Given the description of an element on the screen output the (x, y) to click on. 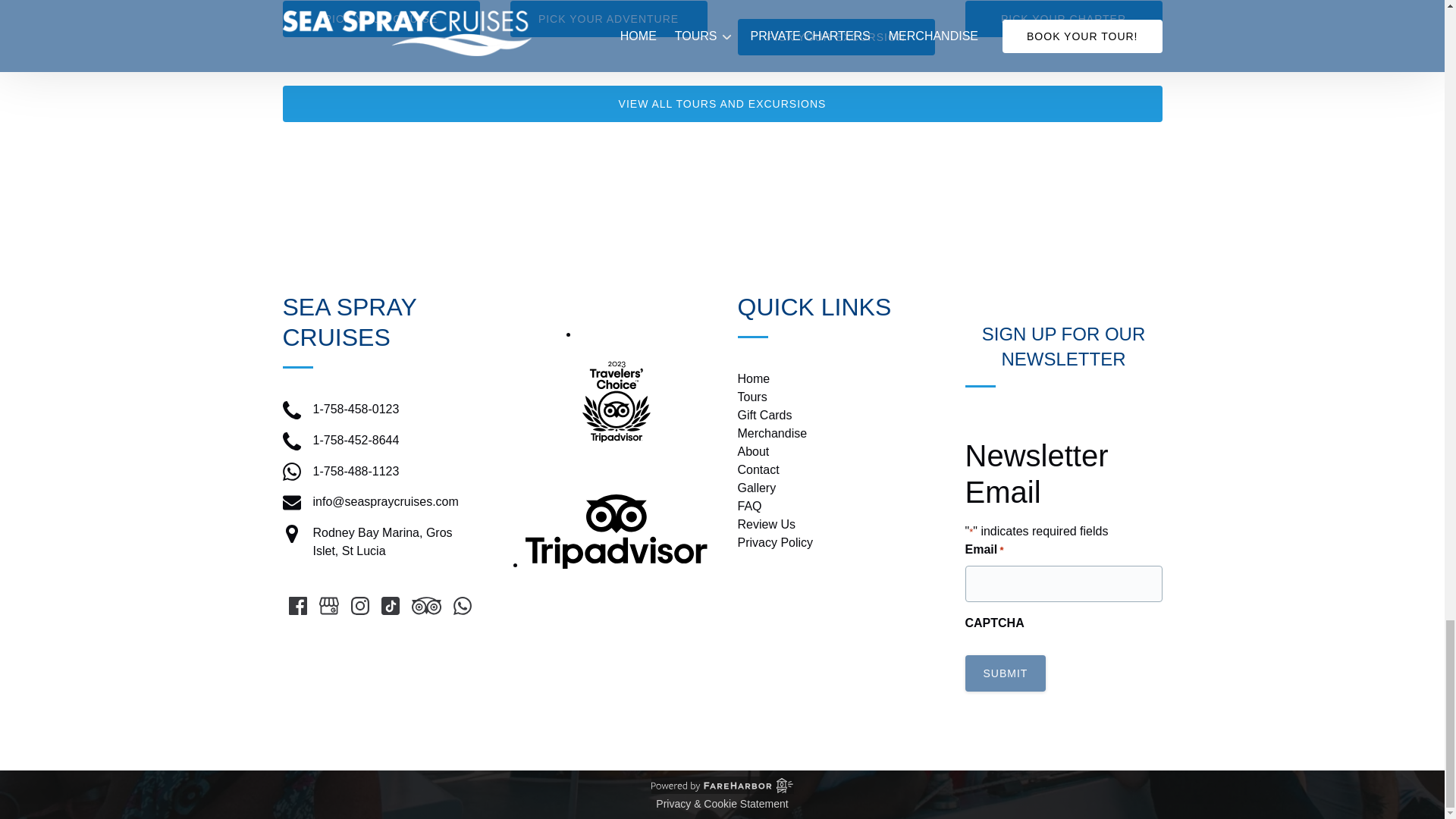
Phone (290, 410)
Envelope (290, 502)
Submit (1004, 673)
Phone (290, 441)
PICK YOUR CHARTER (1062, 18)
PICK YOUR EXCURSION (835, 36)
PICK YOUR CRUISE (380, 18)
PICK YOUR ADVENTURE (607, 18)
Map Marker (290, 533)
